Given the description of an element on the screen output the (x, y) to click on. 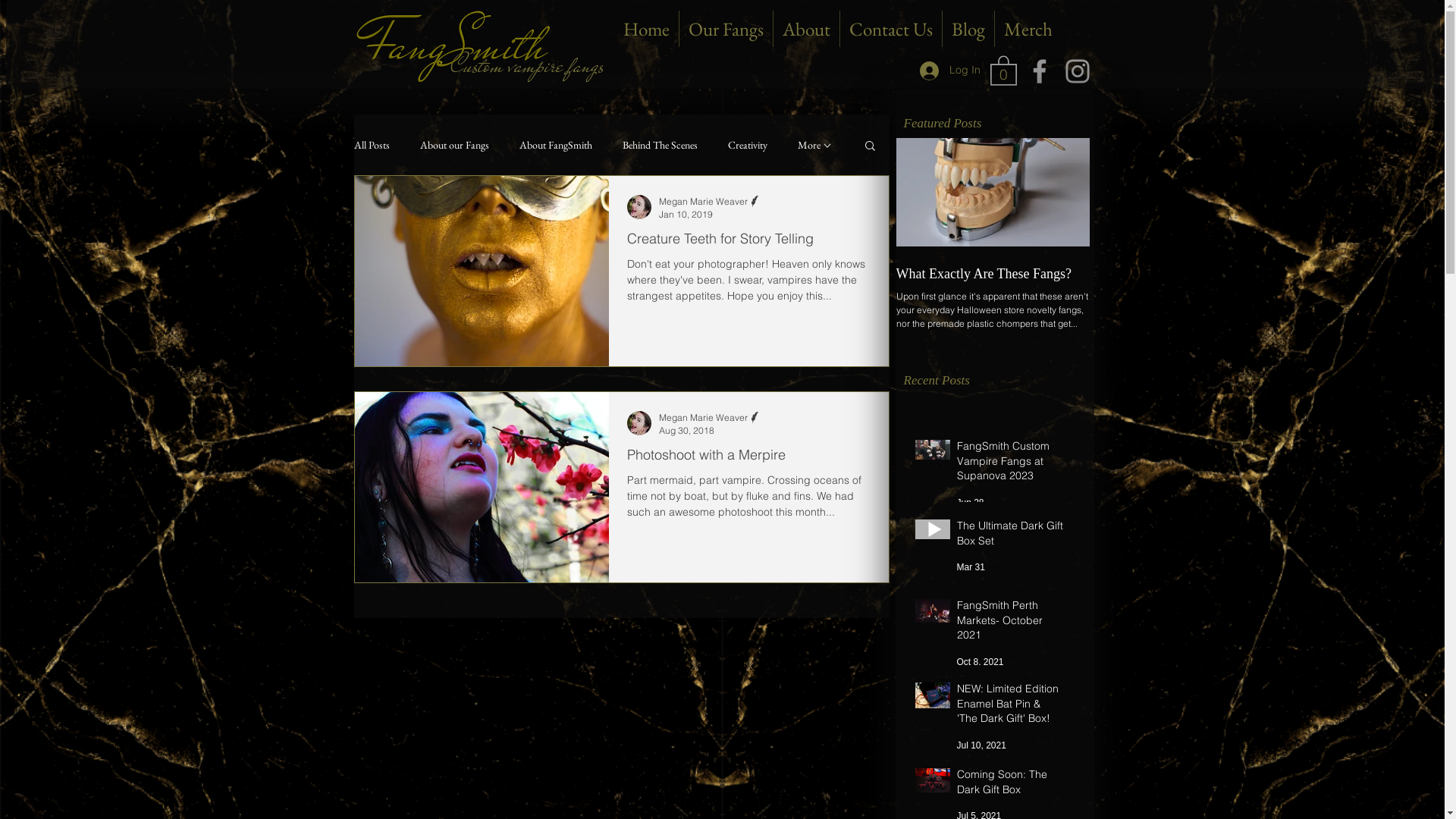
The Ultimate Dark Gift Box Set Element type: text (1010, 536)
Megan Marie Weaver Element type: text (709, 417)
All Posts Element type: text (371, 144)
0 Element type: text (1003, 69)
About FangSmith Element type: text (554, 144)
What Exactly Are These Fangs? Element type: text (992, 274)
NEW: Limited Edition Enamel Bat Pin & 'The Dark Gift' Box! Element type: text (1010, 706)
Creativity Element type: text (747, 144)
About Element type: text (806, 28)
FangSmith Custom Vampire Fangs at Supanova 2023 Element type: text (1010, 464)
Photoshoot with a Merpire Element type: text (747, 458)
Creature Teeth for Story Telling Element type: text (747, 242)
Coming Soon: The Dark Gift Box Element type: text (1010, 785)
About our Fangs Element type: text (454, 144)
Blog Element type: text (968, 28)
Log In Element type: text (949, 70)
Behind The Scenes Element type: text (658, 144)
Home Element type: text (646, 28)
FangSmith Perth Markets- October 2021 Element type: text (1010, 623)
Megan Marie Weaver Element type: text (709, 201)
Merch Element type: text (1027, 28)
Contact Us Element type: text (890, 28)
